Given the description of an element on the screen output the (x, y) to click on. 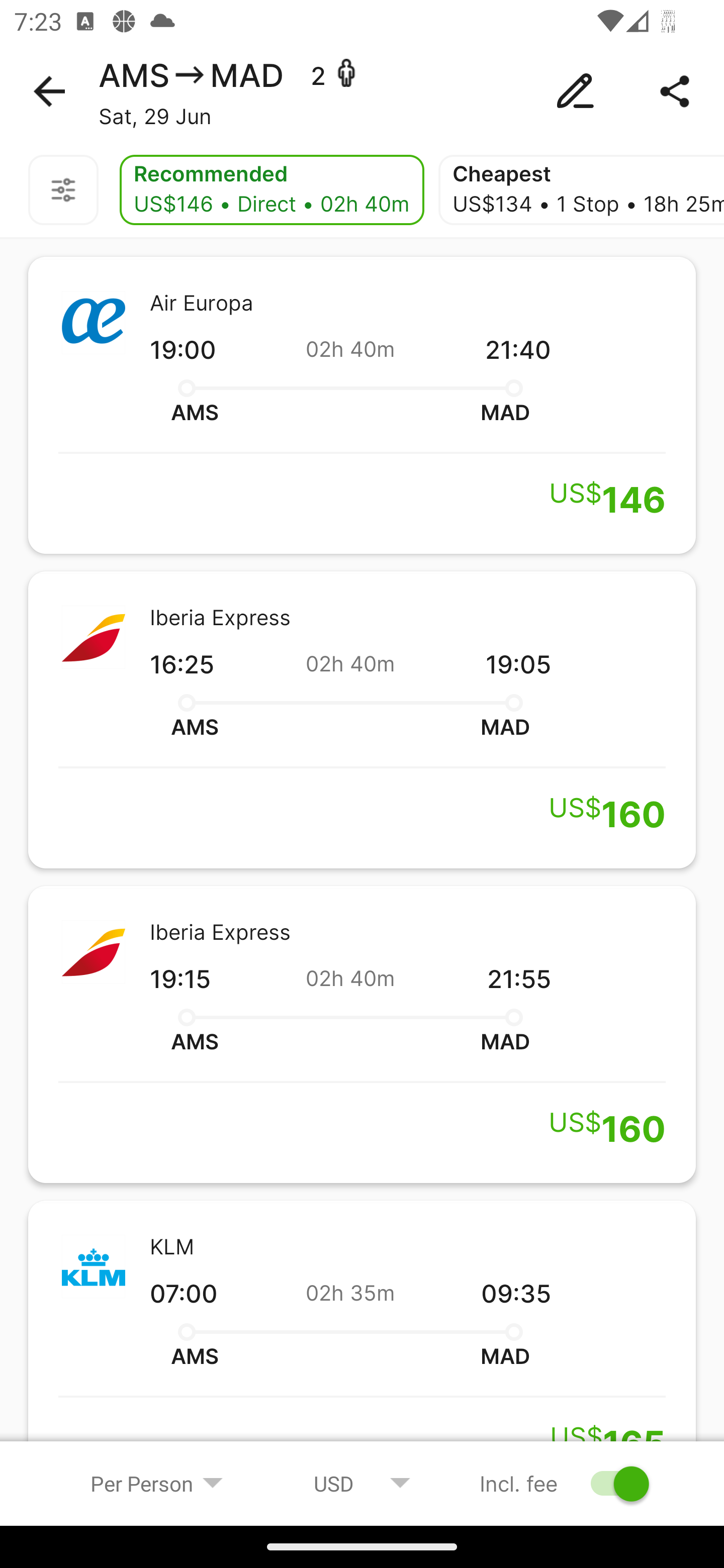
AMS MAD   2 - Sat, 29 Jun (361, 91)
Recommended  US$146 • Direct • 02h 40m (271, 190)
Cheapest US$134 • 1 Stop • 18h 25m (581, 190)
Air Europa 19:00 02h 40m 21:40 AMS MAD (361, 405)
Iberia Express 16:25 02h 40m 19:05 AMS MAD (361, 719)
Iberia Express 19:15 02h 40m 21:55 AMS MAD (361, 1033)
KLM 07:00 02h 35m 09:35 AMS MAD (361, 1342)
Per Person (156, 1482)
USD (361, 1482)
